Given the description of an element on the screen output the (x, y) to click on. 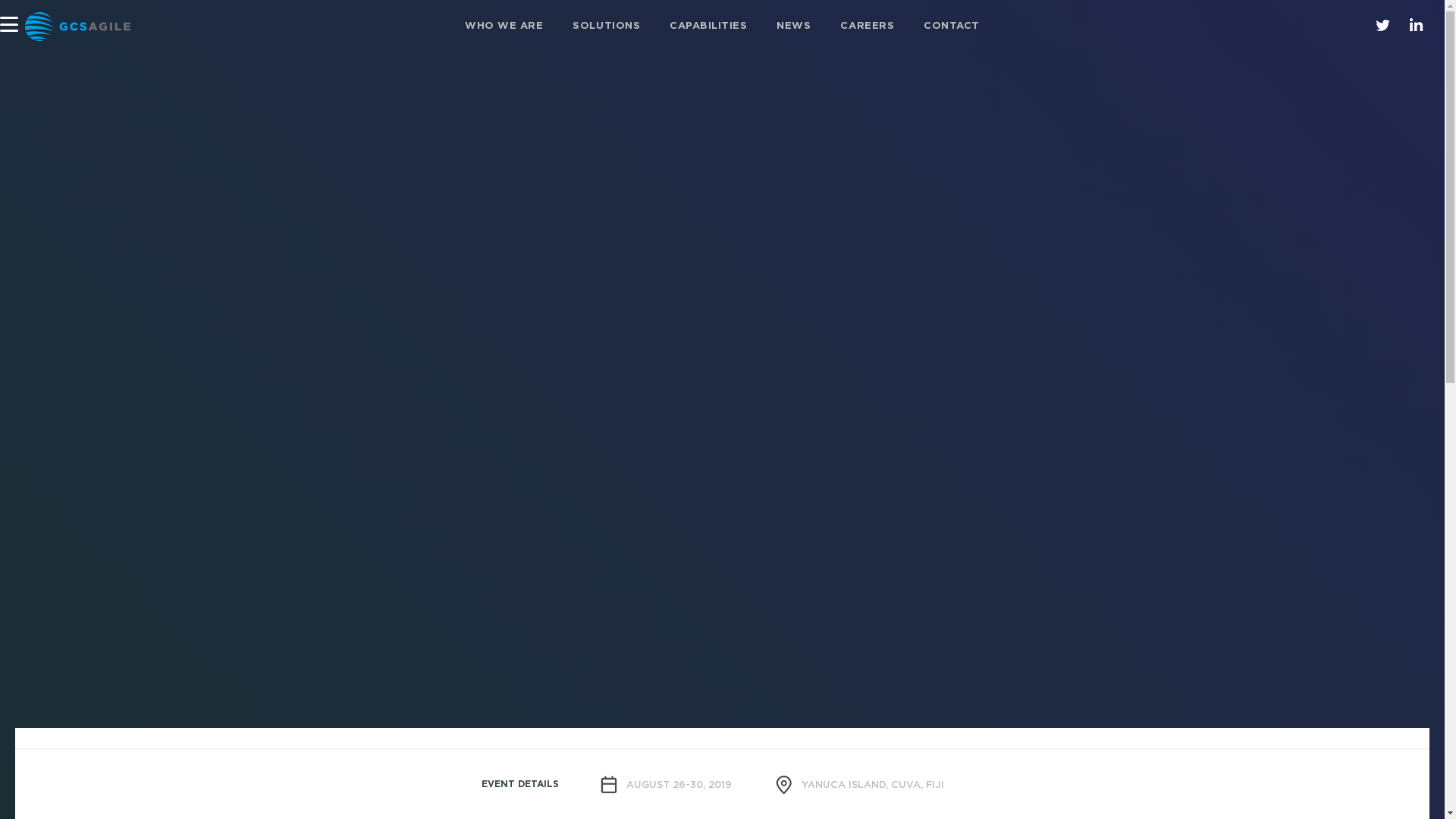
NEWS Element type: text (793, 26)
CONTACT Element type: text (951, 26)
CAREERS Element type: text (867, 26)
WHO WE ARE Element type: text (504, 26)
CAPABILITIES Element type: text (708, 26)
SOLUTIONS Element type: text (606, 26)
